Given the description of an element on the screen output the (x, y) to click on. 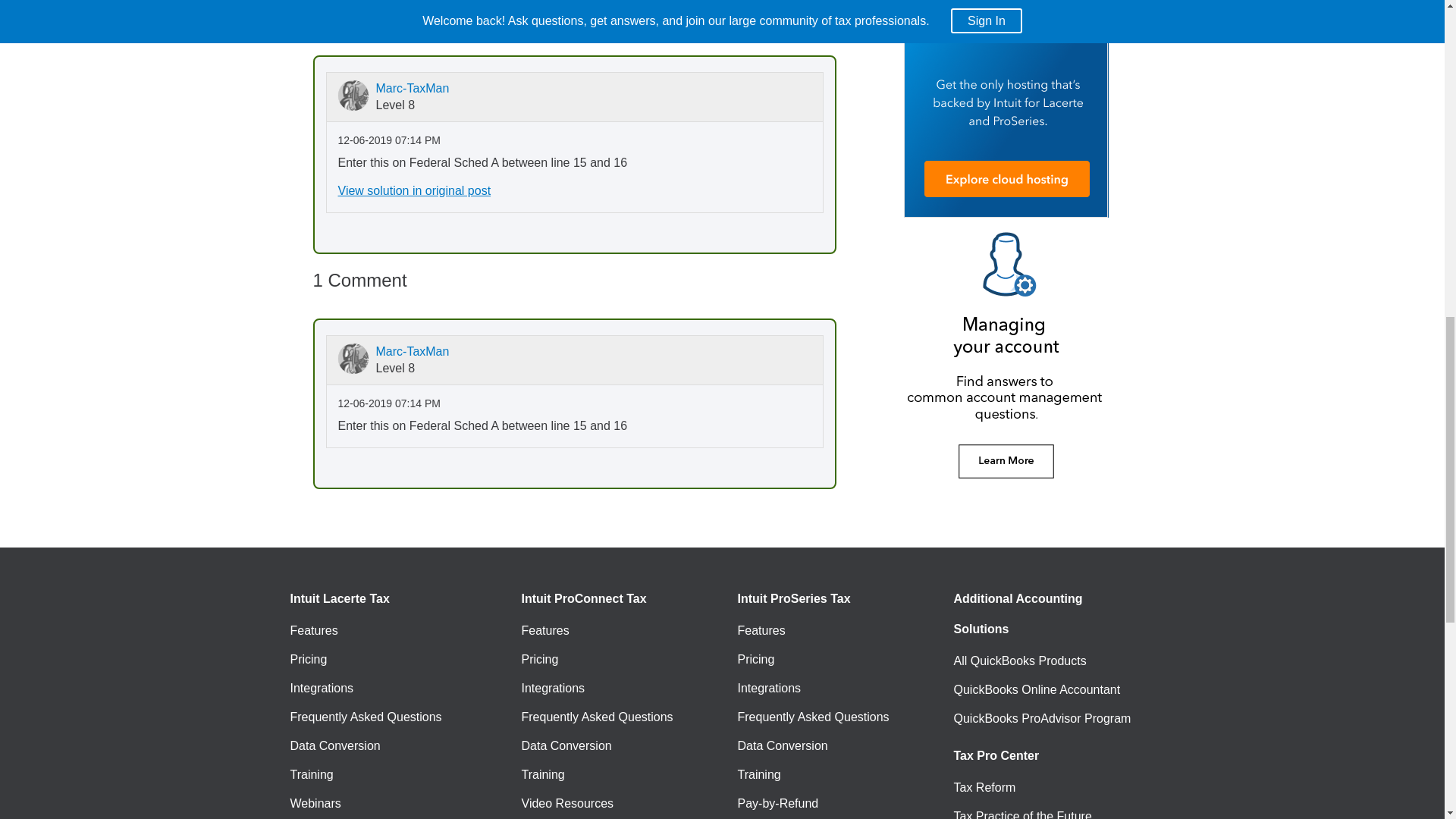
How do I find a CPA that uses proseries in Waco Texas? (654, 20)
ProSeries Tax Discussions (538, 20)
